Given the description of an element on the screen output the (x, y) to click on. 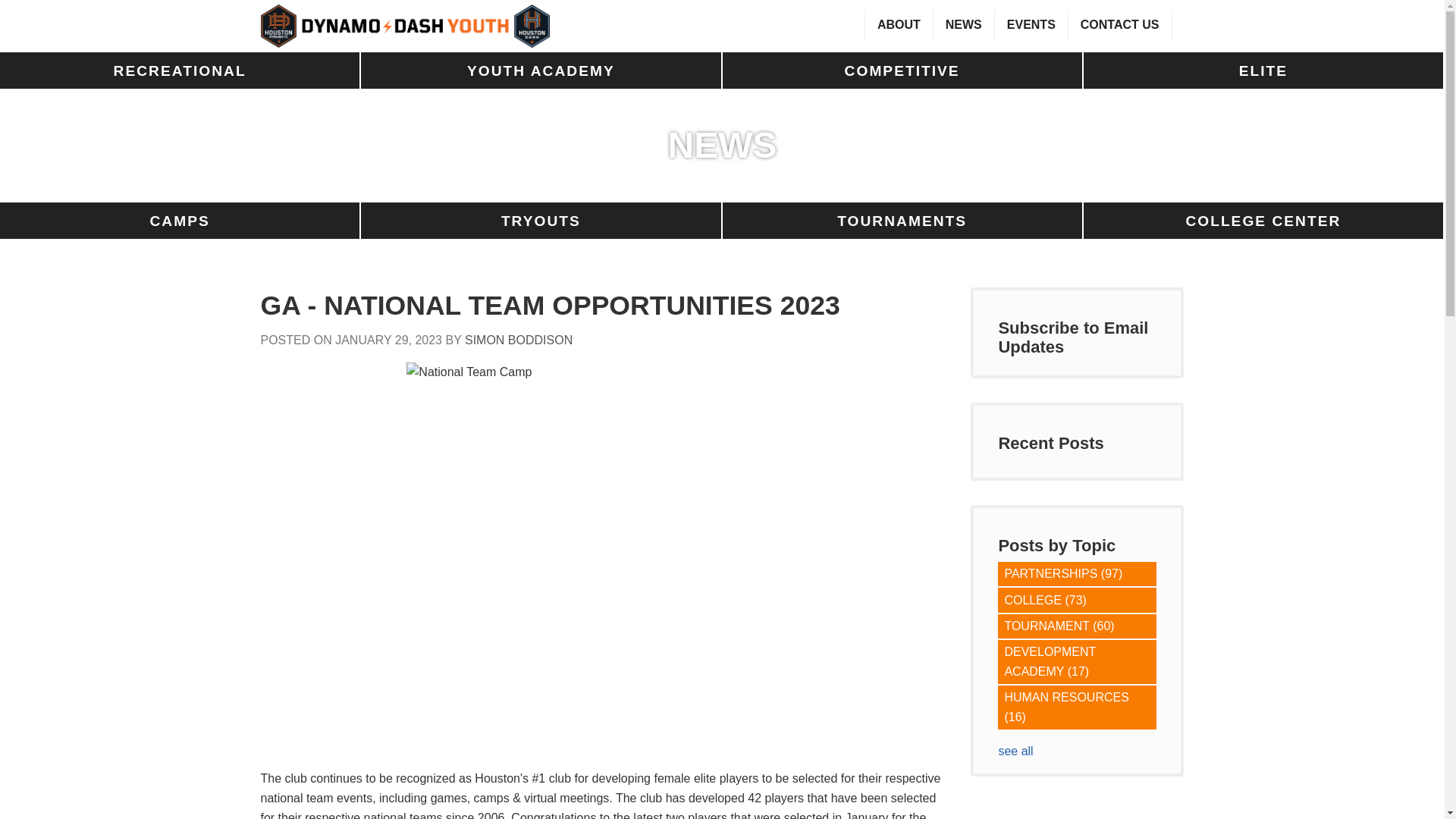
logo (405, 25)
TRYOUTS (541, 220)
TOURNAMENTS (902, 220)
SIMON BODDISON (518, 339)
ABOUT (898, 24)
COMPETITIVE (902, 70)
RECREATIONAL (180, 70)
YOUTH ACADEMY (541, 70)
CAMPS (180, 220)
NEWS (963, 24)
